Given the description of an element on the screen output the (x, y) to click on. 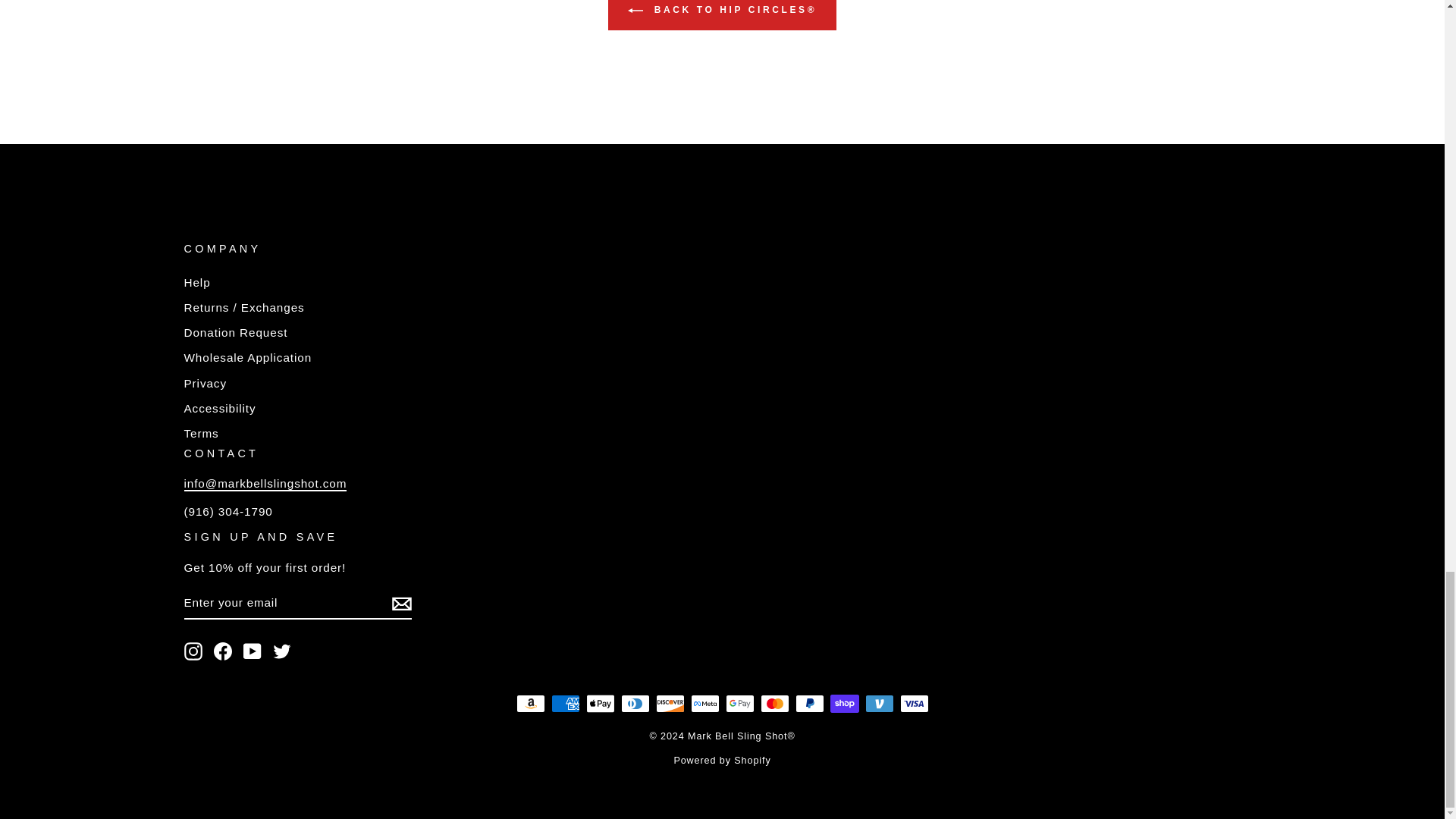
instagram (192, 651)
Amazon (529, 703)
American Express (564, 703)
twitter (282, 651)
Apple Pay (599, 703)
icon-email (400, 603)
Contact (264, 483)
ICON-LEFT-ARROW (635, 10)
